Given the description of an element on the screen output the (x, y) to click on. 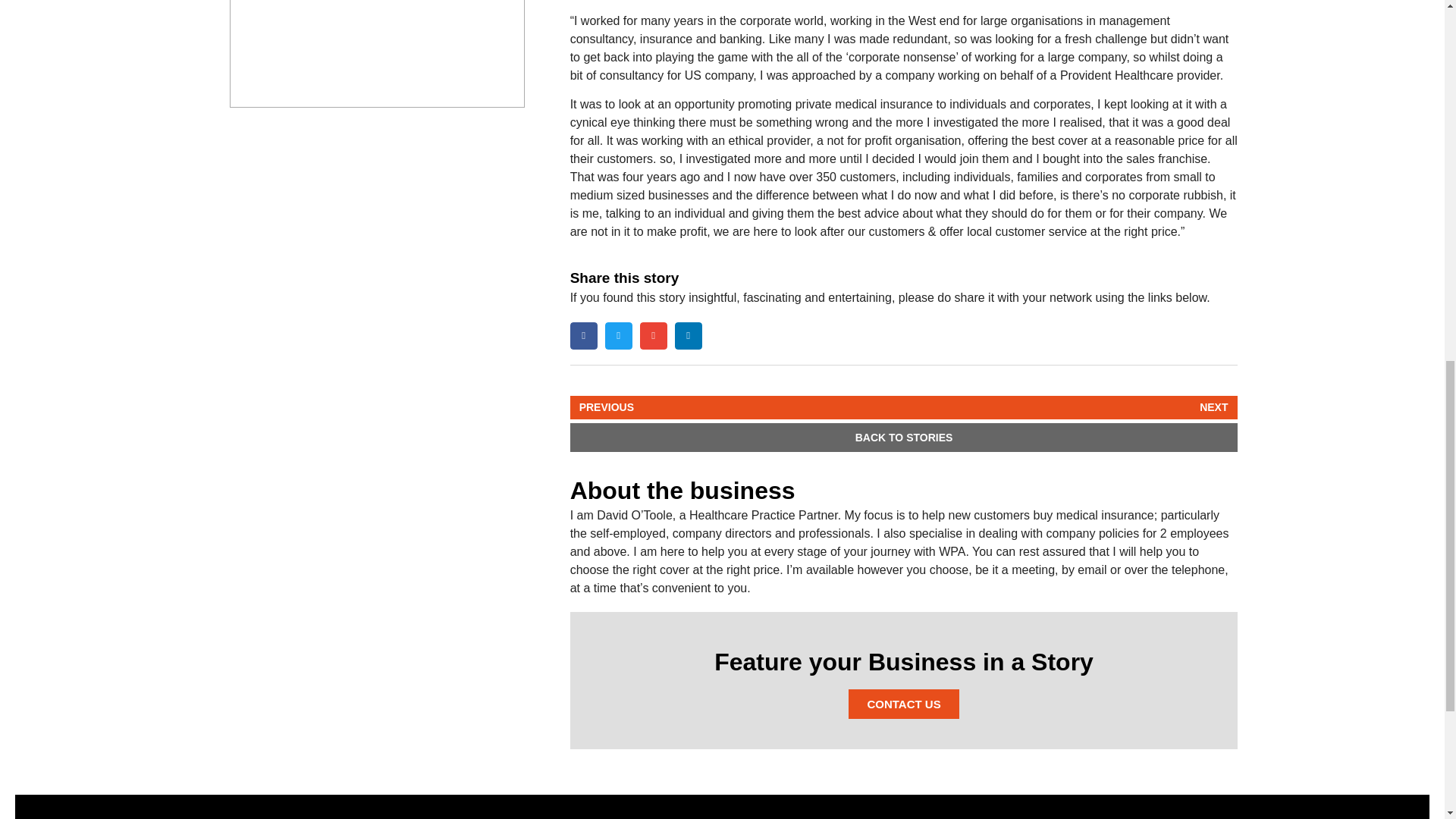
TN1 (377, 45)
